Given the description of an element on the screen output the (x, y) to click on. 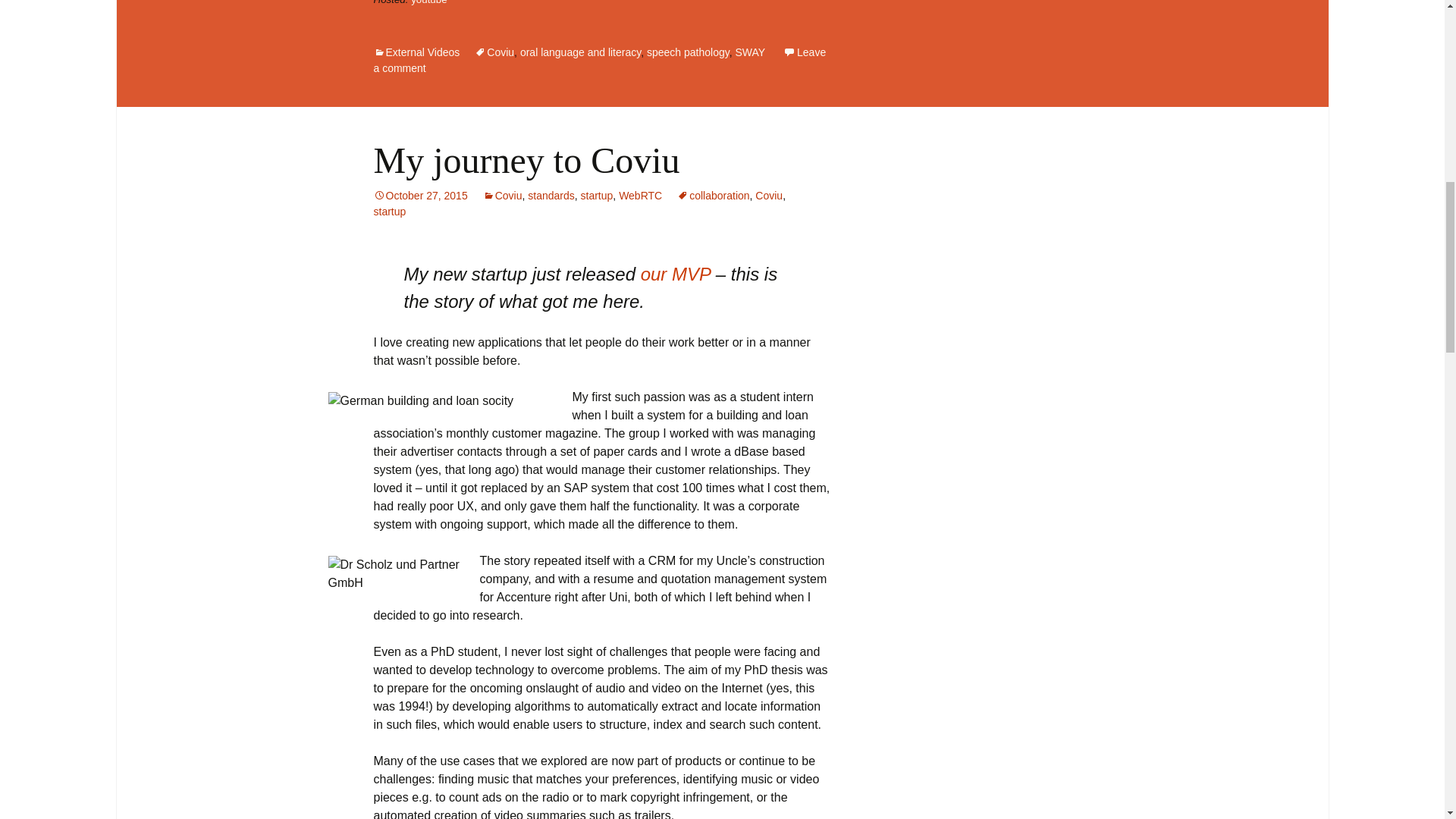
our MVP (675, 273)
startup (596, 195)
collaboration (713, 195)
oral language and literacy (579, 51)
External Videos (416, 51)
standards (550, 195)
Leave a comment (598, 59)
Coviu (502, 195)
speech pathology (687, 51)
Coviu (769, 195)
